Given the description of an element on the screen output the (x, y) to click on. 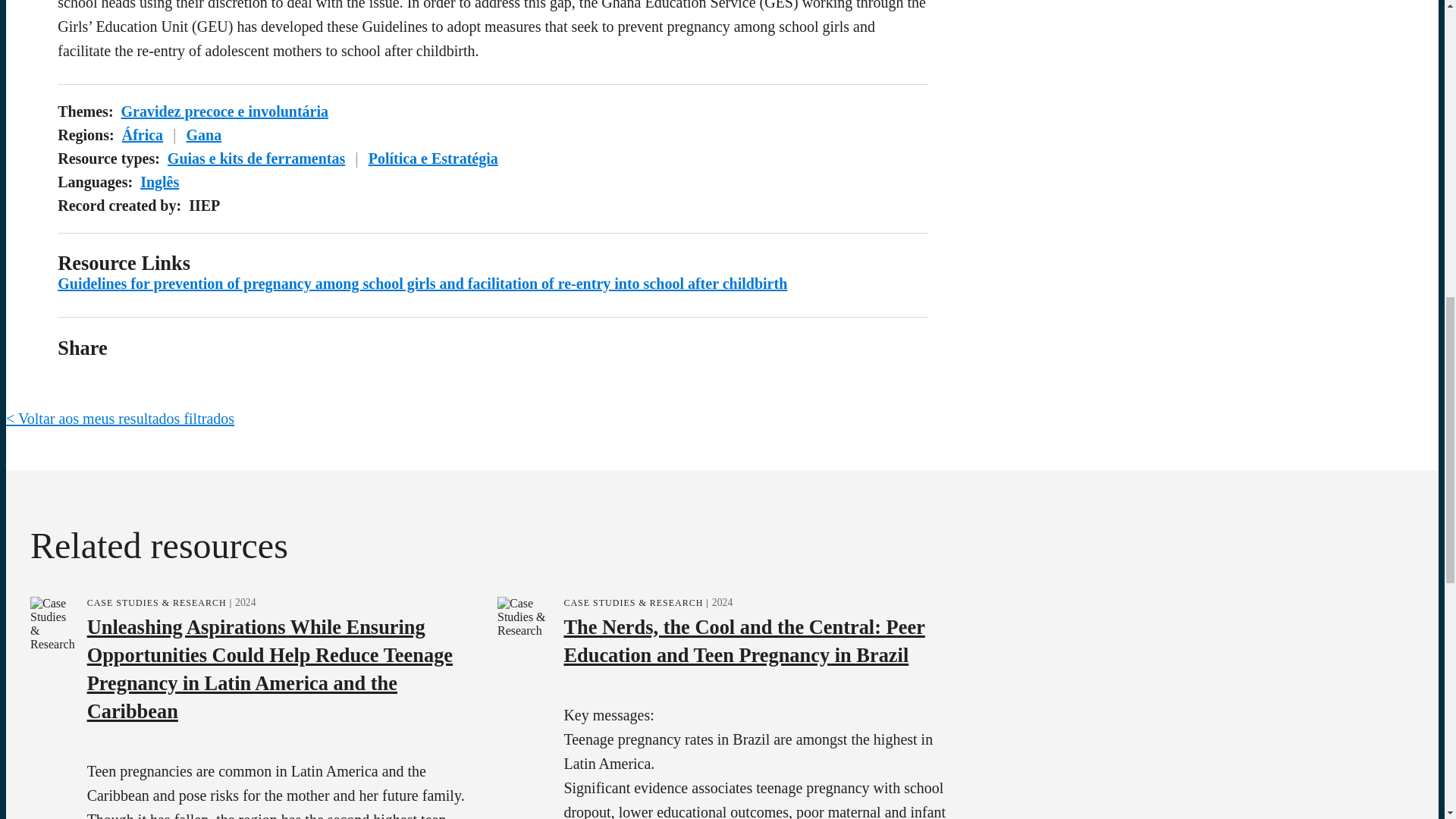
Guias e kits de ferramentas (256, 158)
Gana (204, 134)
